Given the description of an element on the screen output the (x, y) to click on. 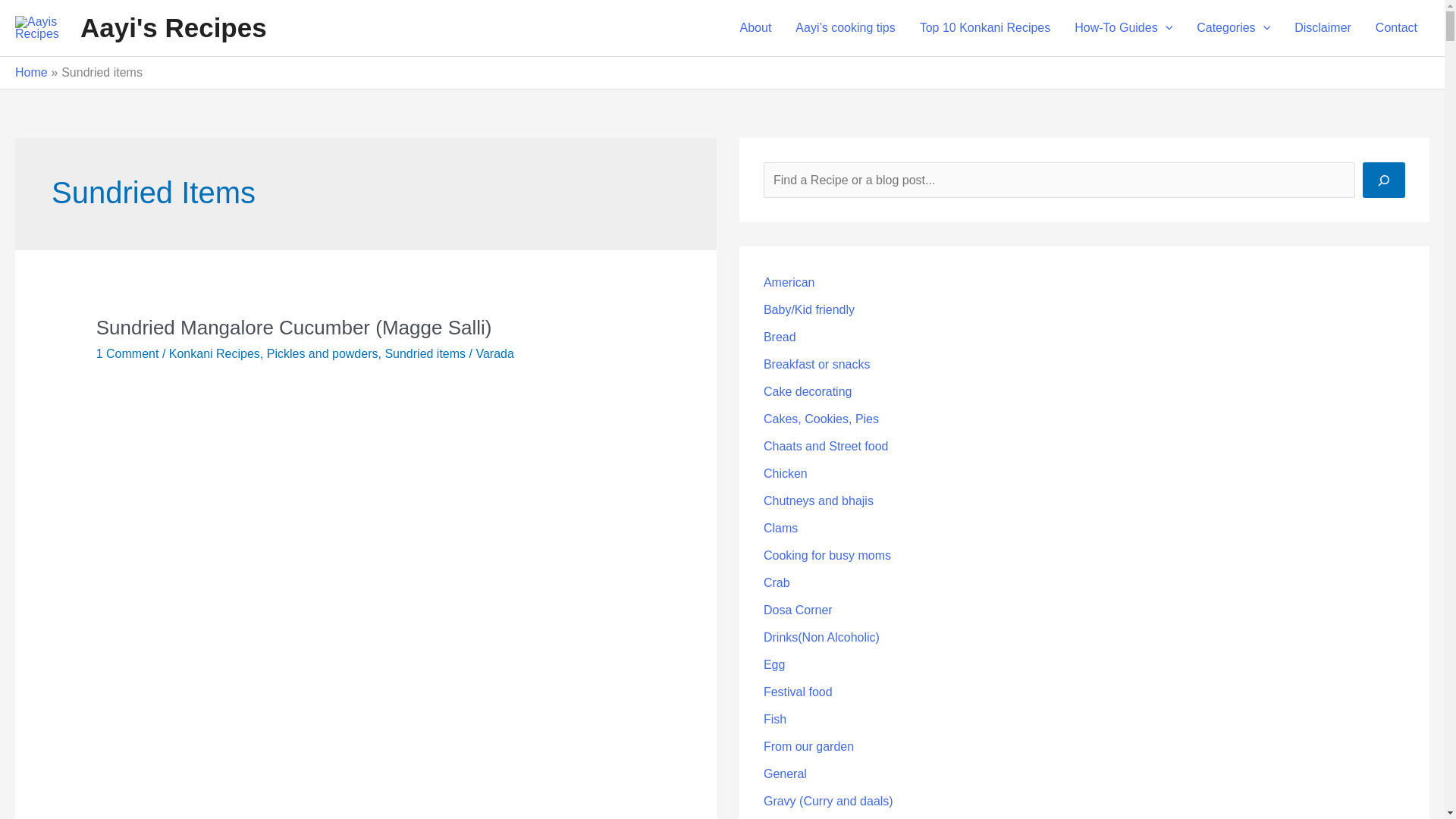
Top 10 Konkani Recipes (984, 27)
Categories (1233, 27)
Categories (1233, 27)
Aayi's Recipes (173, 27)
How-To Guides (1123, 27)
Top 10 Konkani Recipes (984, 27)
View all posts by Varada (494, 353)
About (756, 27)
